Given the description of an element on the screen output the (x, y) to click on. 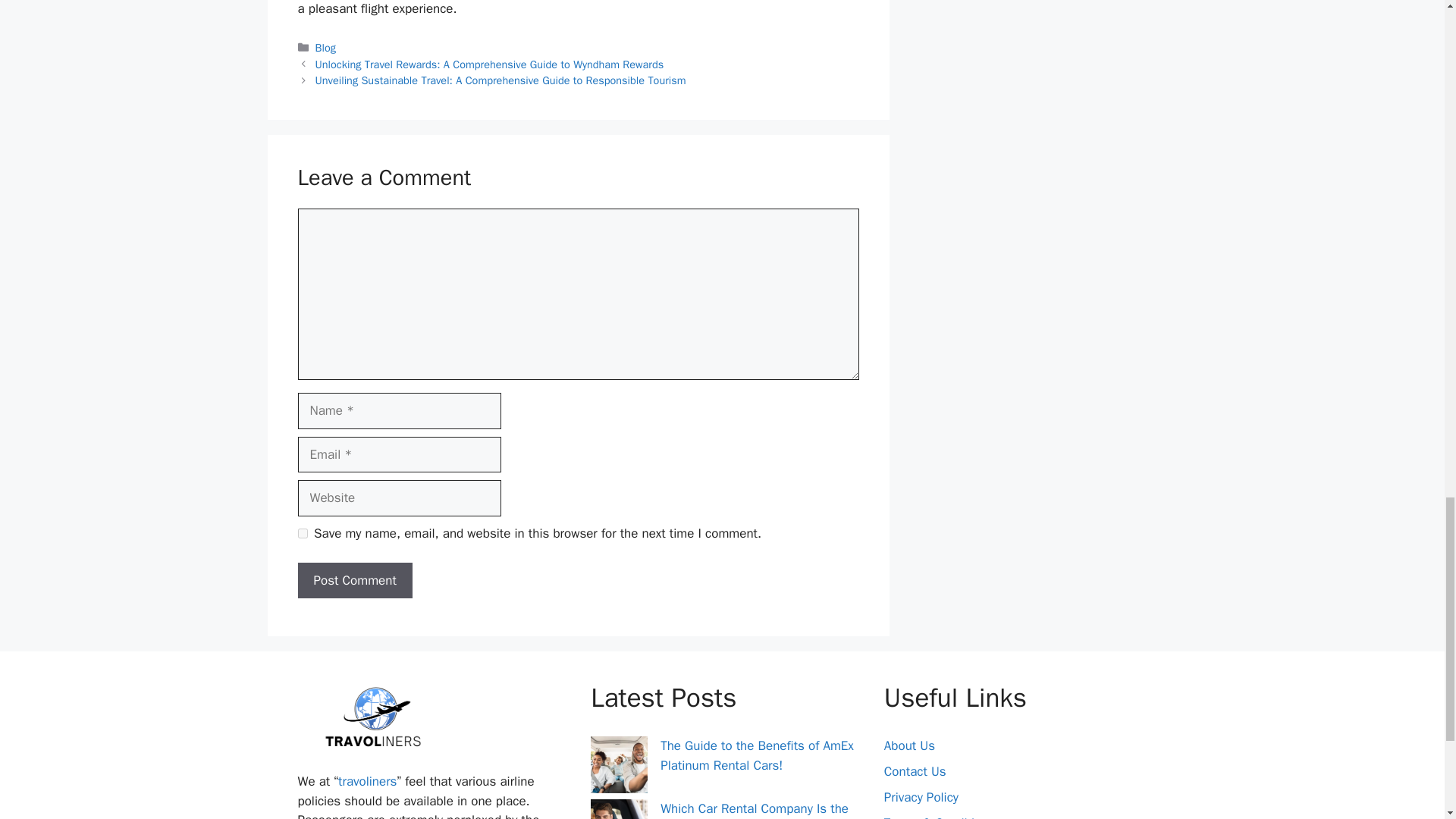
travoliners (366, 781)
yes (302, 533)
Contact Us (914, 771)
Blog (325, 47)
Privacy Policy (920, 797)
The Guide to the Benefits of AmEx Platinum Rental Cars! (757, 755)
Which Car Rental Company Is the Best? (754, 809)
Post Comment (354, 580)
Post Comment (354, 580)
About Us (908, 745)
